Given the description of an element on the screen output the (x, y) to click on. 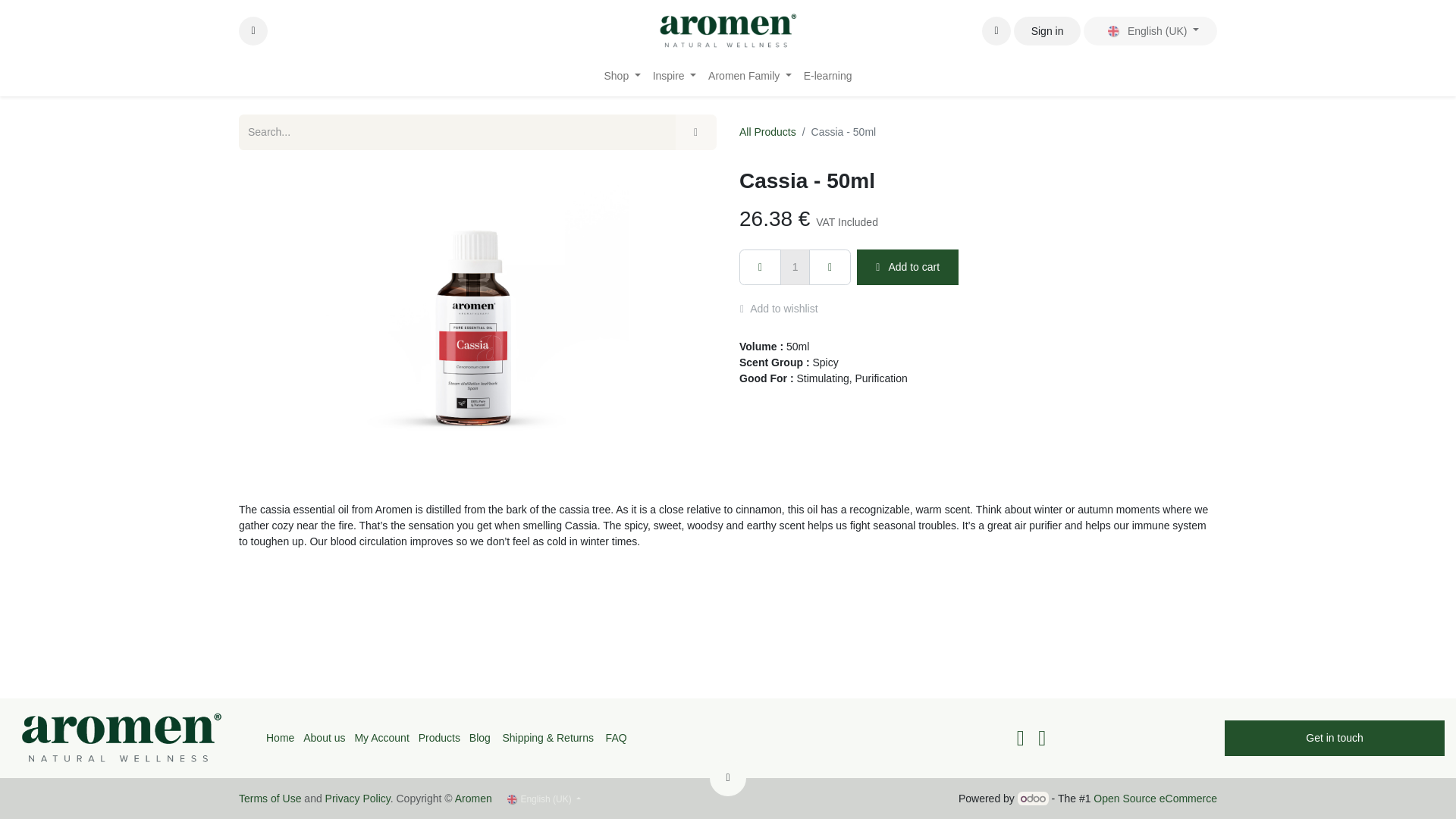
Search (252, 30)
Search (695, 131)
Remove one (759, 267)
Inspire (673, 76)
Shop (621, 76)
Aromen B2C (727, 30)
Aromen Family (749, 76)
E-learning (828, 76)
Add to wishlist (785, 308)
Add one (829, 267)
Sign in (1046, 30)
